Given the description of an element on the screen output the (x, y) to click on. 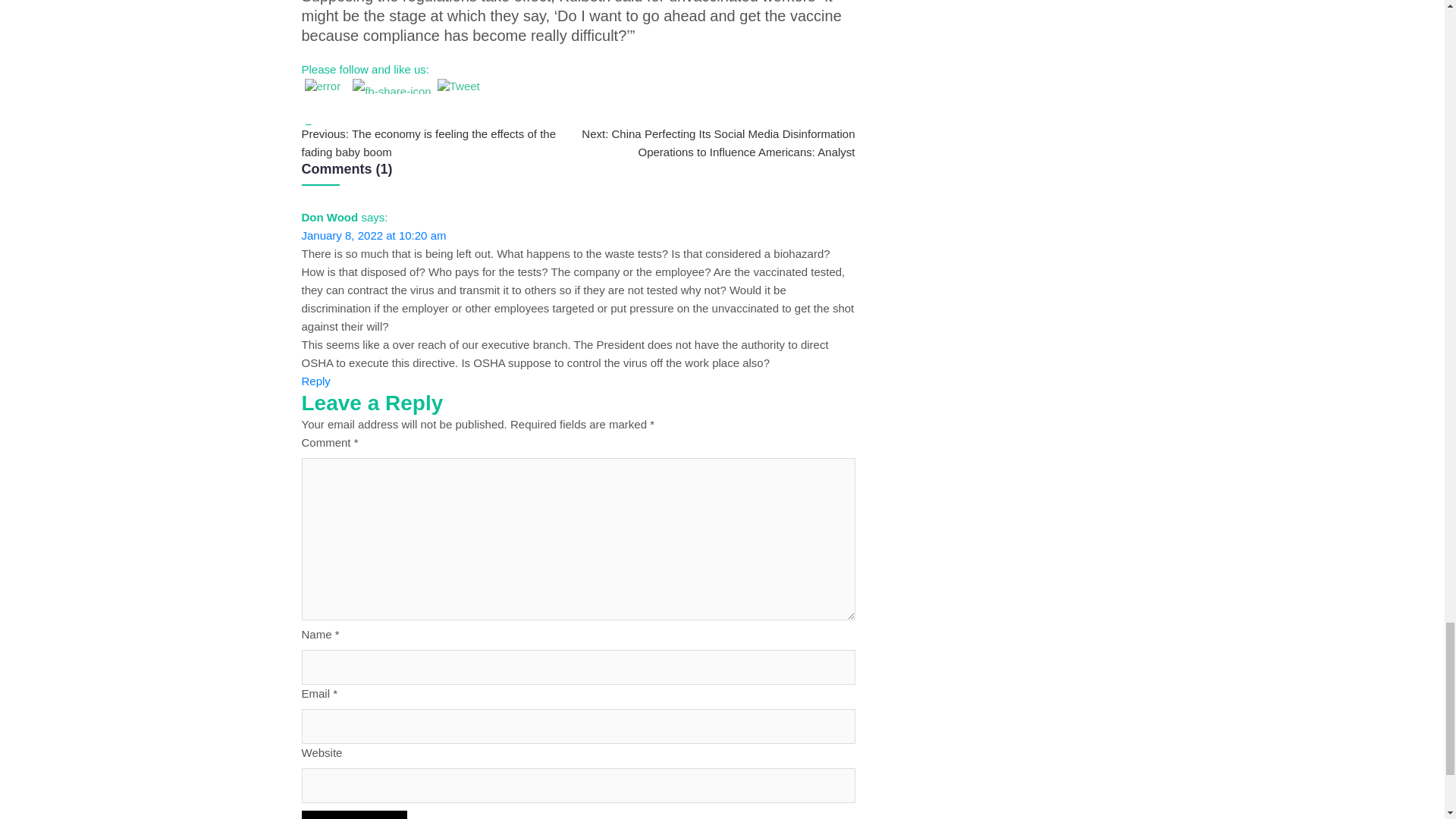
Facebook Share (391, 86)
Tweet (459, 86)
Post Comment (354, 814)
